Given the description of an element on the screen output the (x, y) to click on. 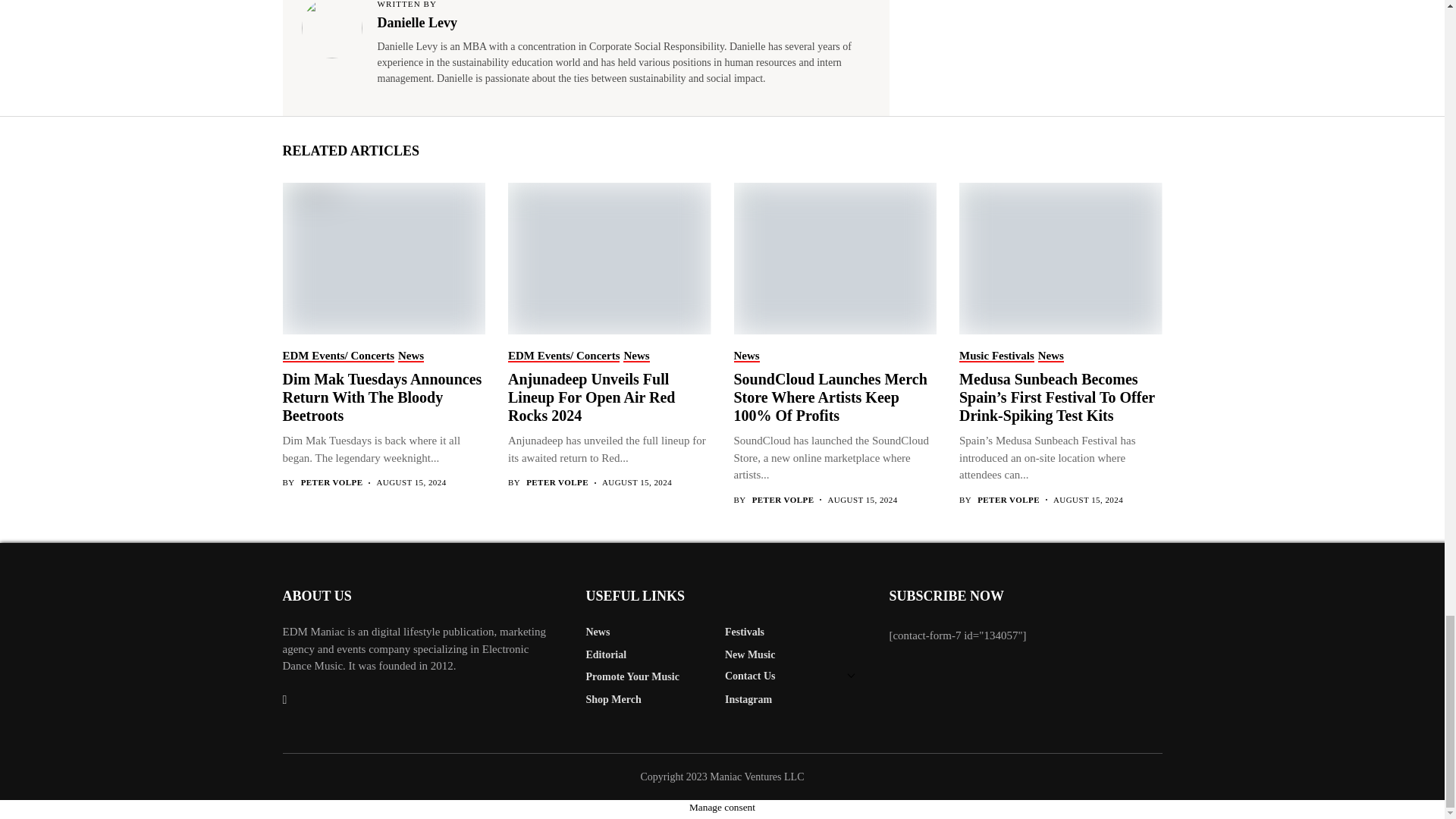
Posts by Peter Volpe (556, 482)
Posts by Peter Volpe (331, 482)
Posts by Peter Volpe (782, 500)
Posts by Peter Volpe (1007, 500)
